Given the description of an element on the screen output the (x, y) to click on. 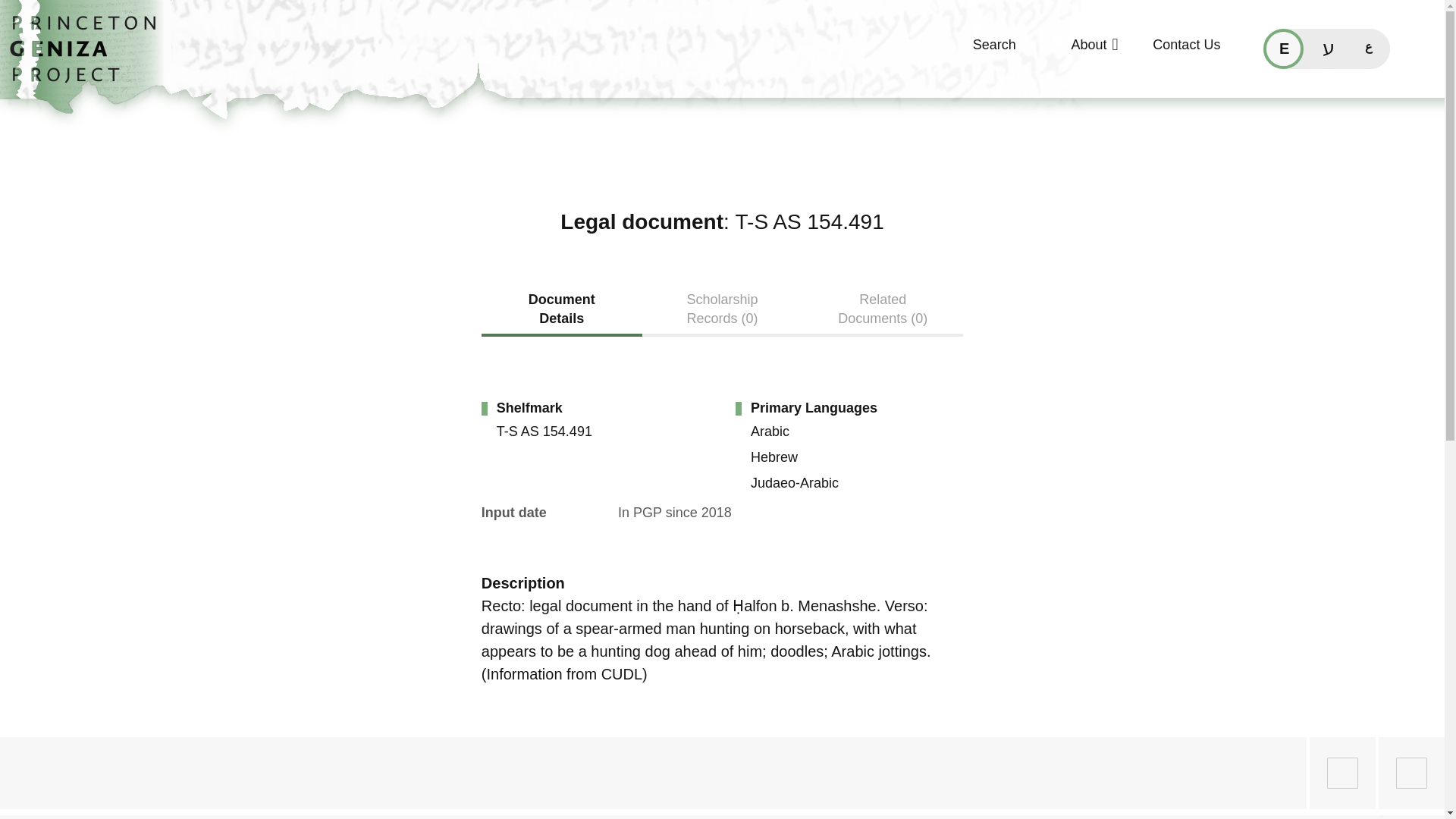
home (88, 56)
Document Details (561, 313)
Search (971, 52)
About (1073, 52)
Contact Us (1175, 52)
